Given the description of an element on the screen output the (x, y) to click on. 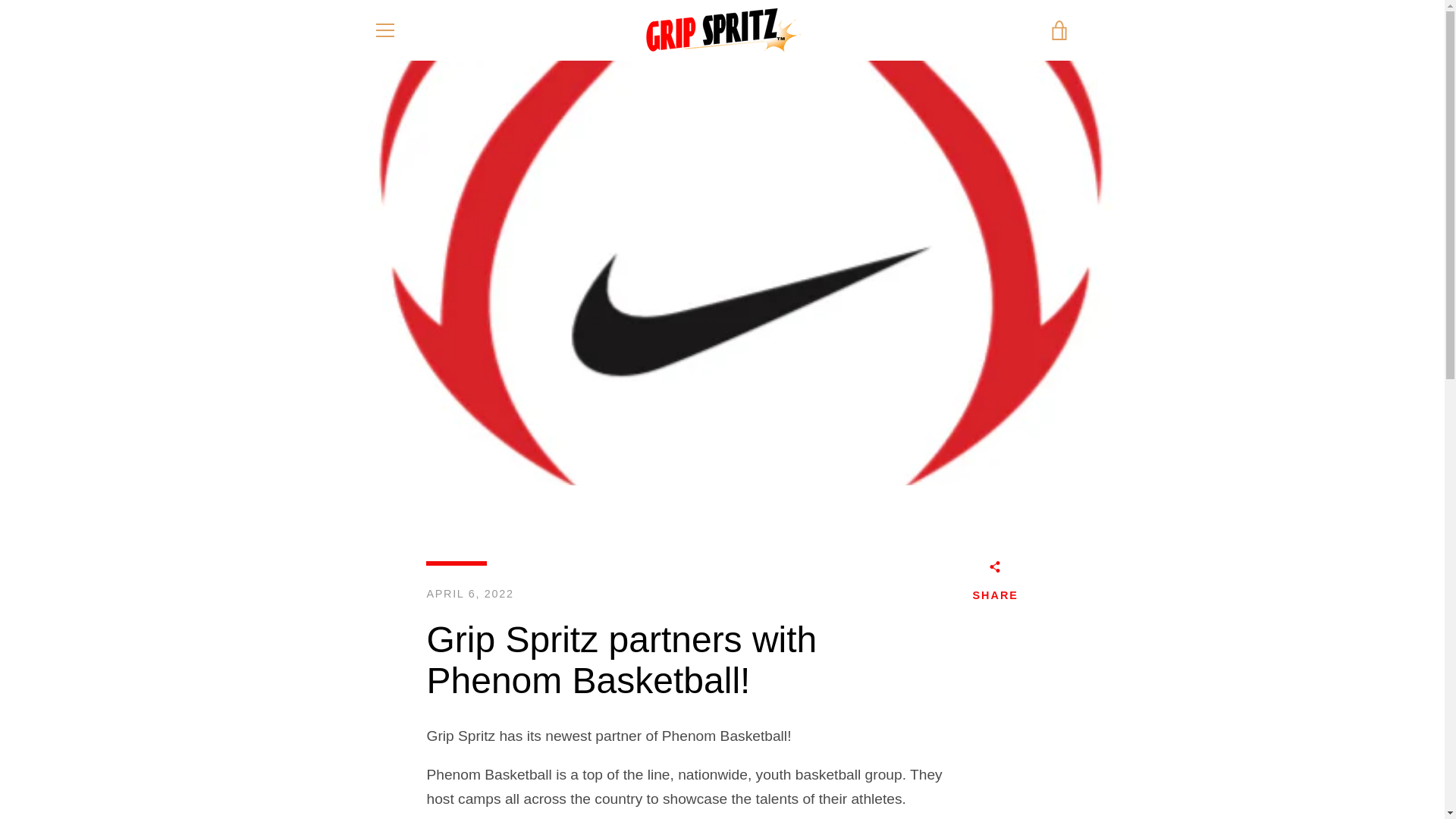
RETURN POLICY (716, 689)
Facebook (372, 764)
Diners Club (953, 754)
Shop Pay (988, 778)
SHARE (994, 584)
PayPal (953, 778)
Twitter (400, 764)
Grip Spritz on Facebook (372, 764)
VIEW CART (1059, 30)
